Given the description of an element on the screen output the (x, y) to click on. 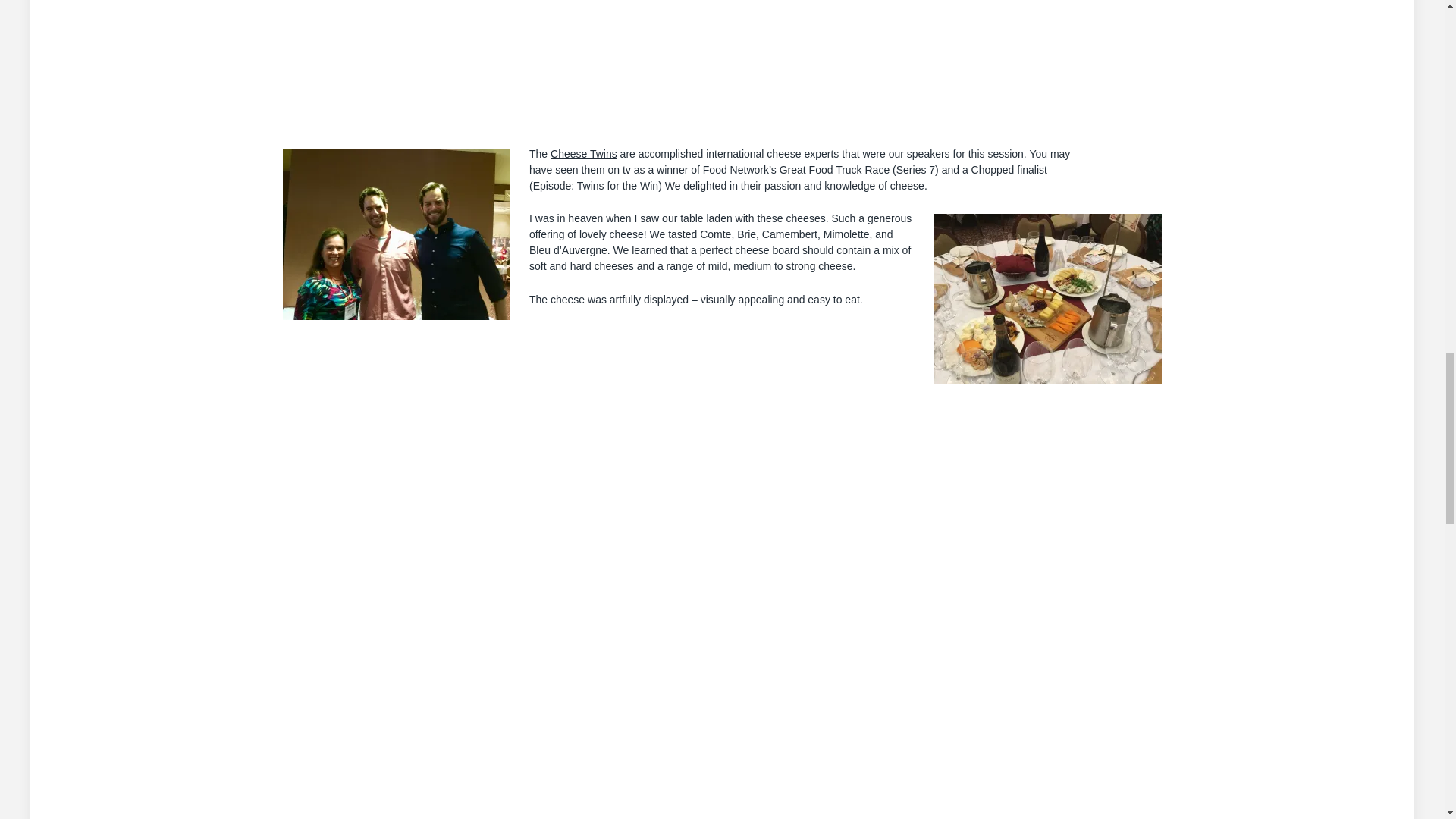
Cheese Twins (583, 153)
